Given the description of an element on the screen output the (x, y) to click on. 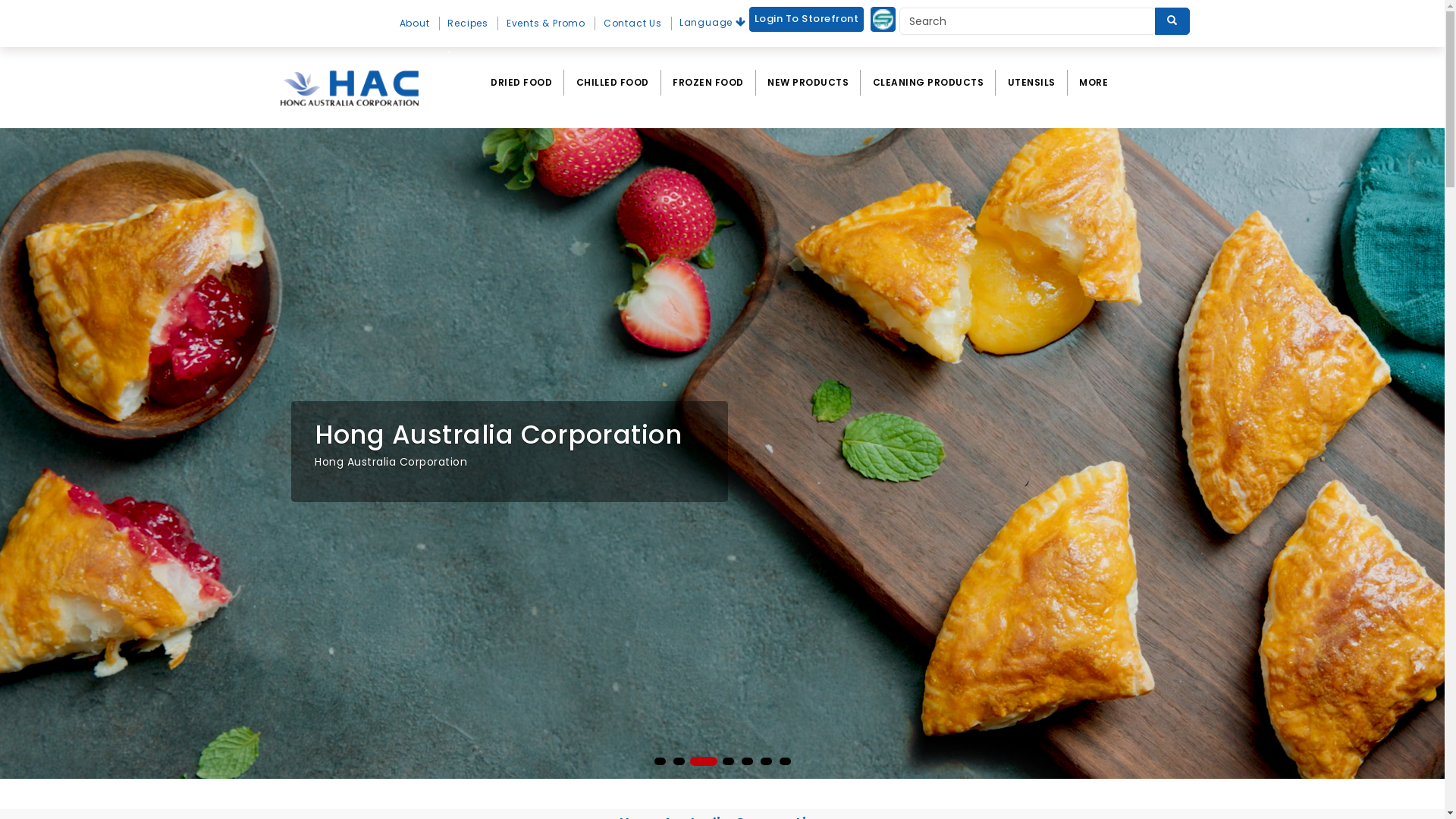
Events & Promo Element type: text (546, 23)
Contact Us Element type: text (633, 23)
DRIED FOOD Element type: text (521, 82)
Recipes Element type: text (468, 23)
MORE Element type: text (1093, 82)
NEW PRODUCTS Element type: text (807, 82)
About Element type: text (415, 23)
FROZEN FOOD Element type: text (708, 82)
CLEANING PRODUCTS Element type: text (928, 82)
UTENSILS Element type: text (1031, 82)
Login To Storefront Element type: text (806, 18)
CHILLED FOOD Element type: text (612, 82)
